Given the description of an element on the screen output the (x, y) to click on. 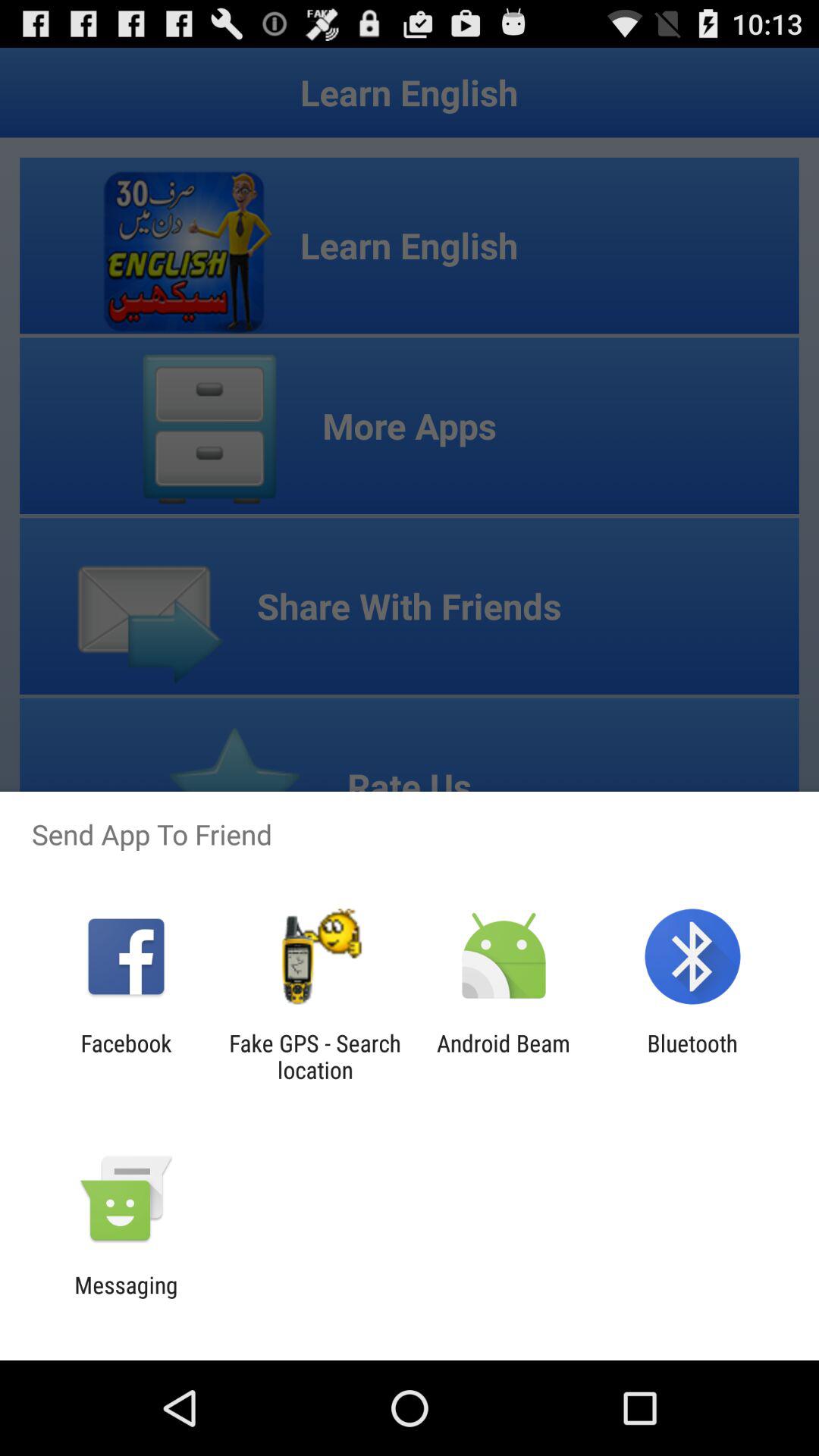
launch the fake gps search item (314, 1056)
